Given the description of an element on the screen output the (x, y) to click on. 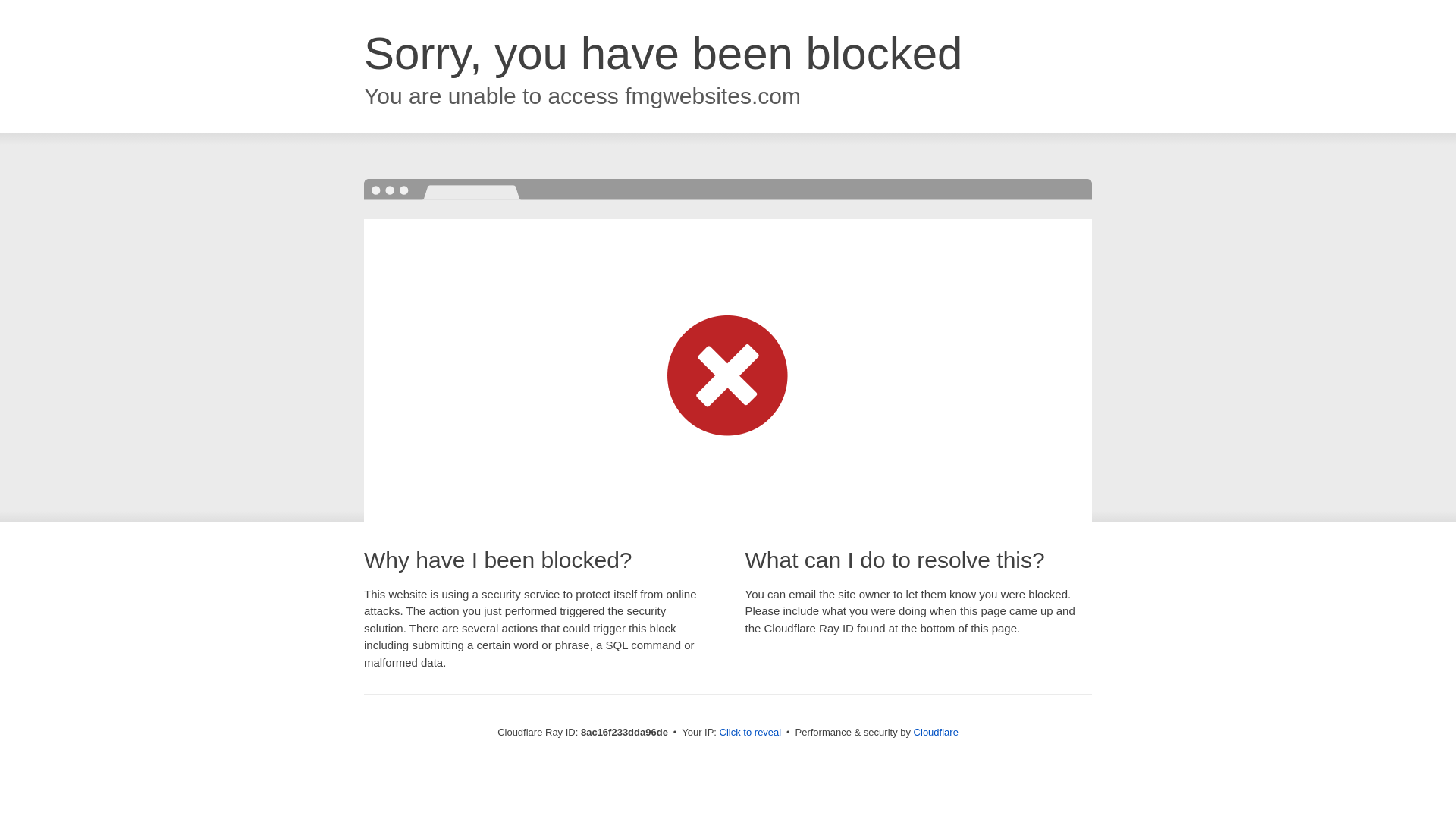
Cloudflare (936, 731)
Click to reveal (750, 732)
